Given the description of an element on the screen output the (x, y) to click on. 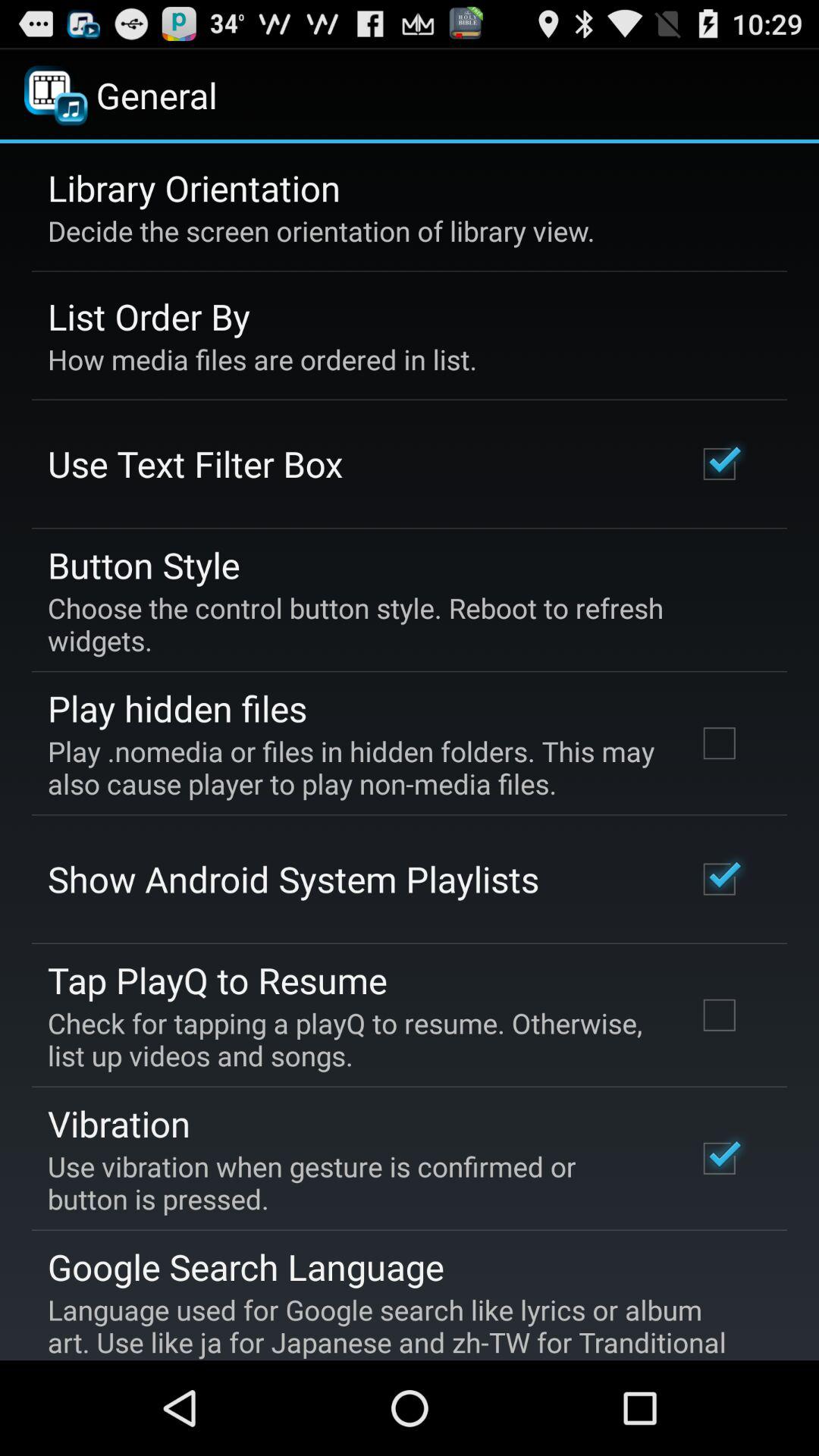
turn on use vibration when item (351, 1182)
